Given the description of an element on the screen output the (x, y) to click on. 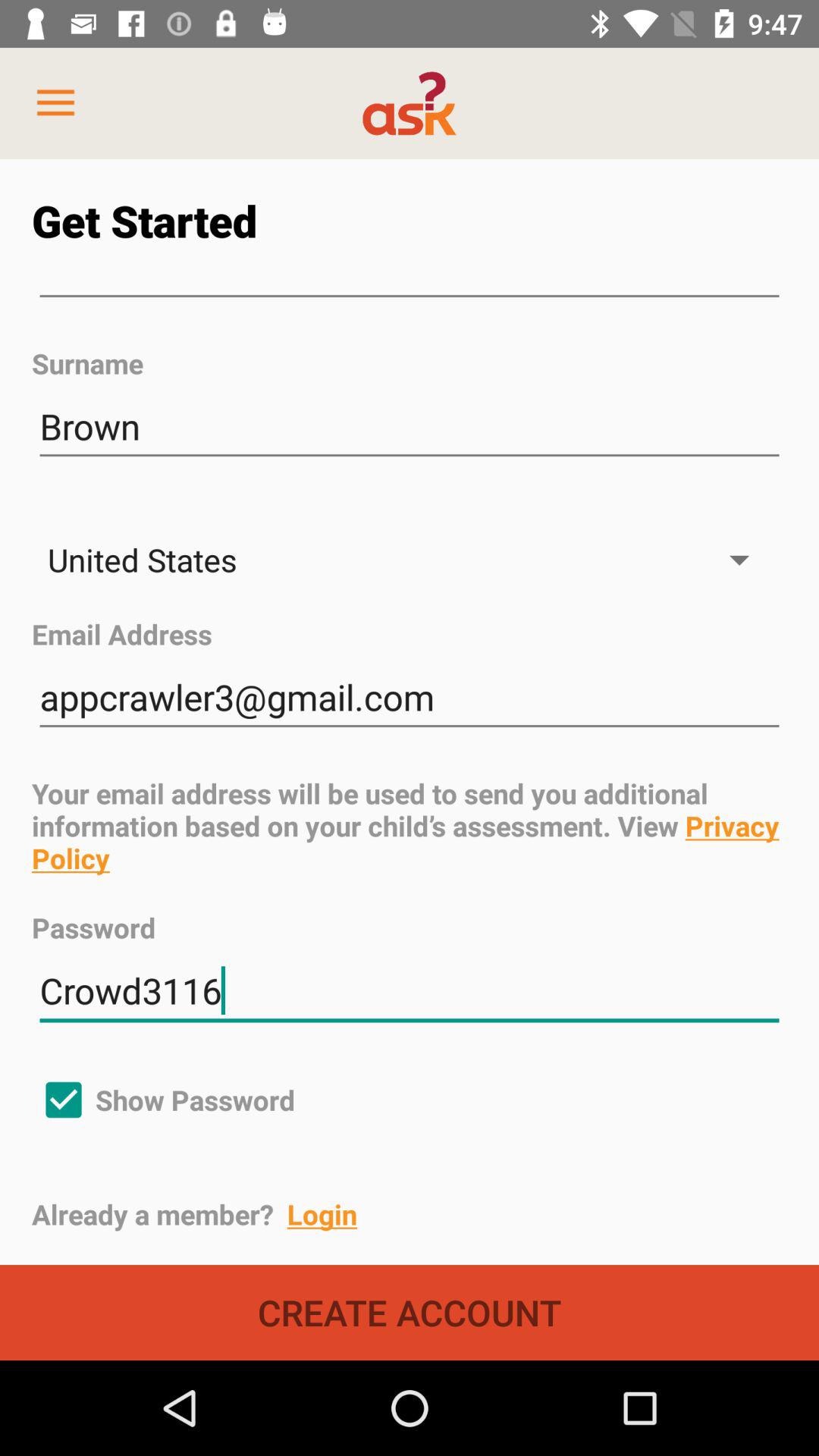
tap the item below get started (409, 296)
